Given the description of an element on the screen output the (x, y) to click on. 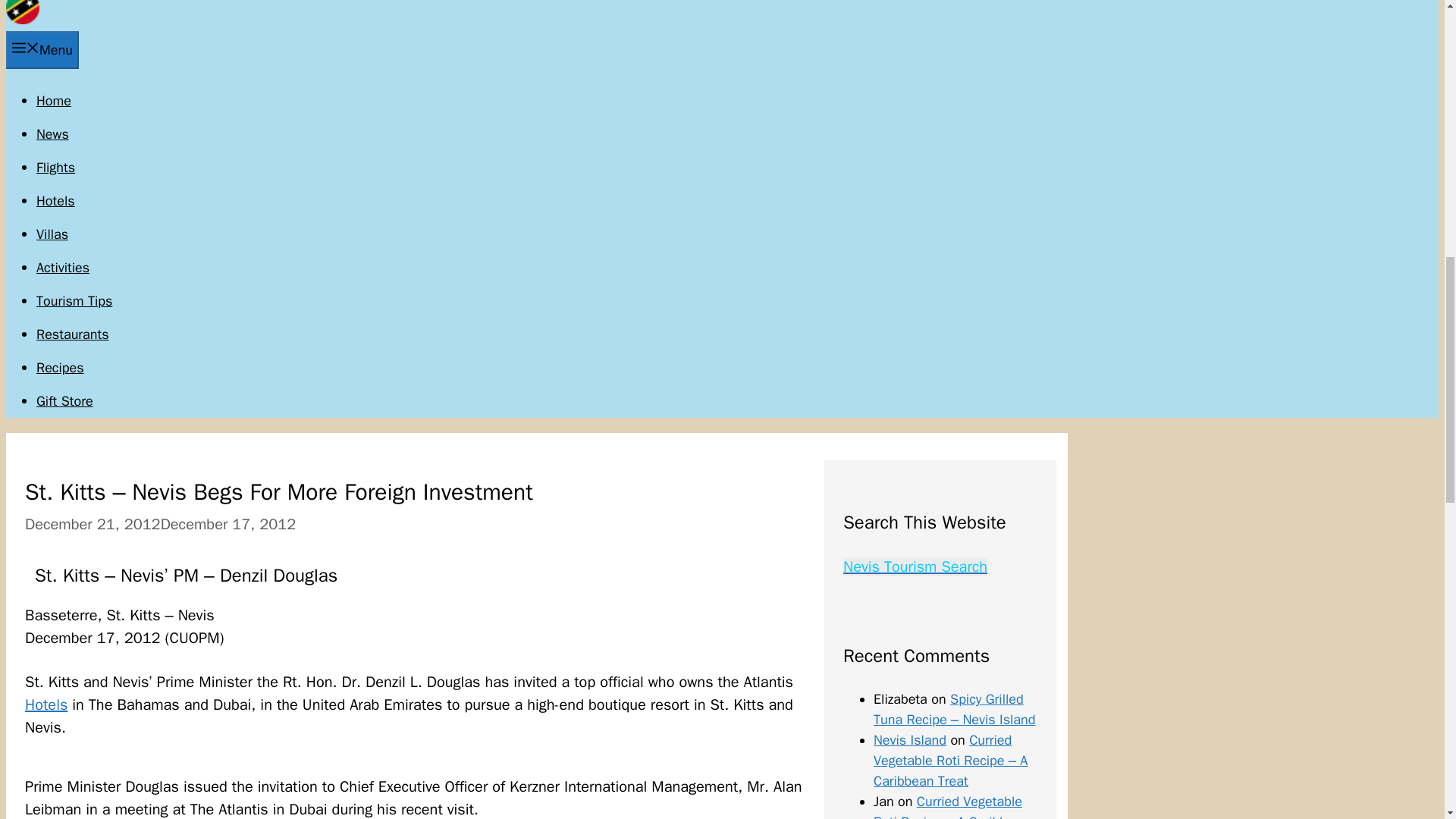
Home (53, 100)
News (52, 134)
Recipes (60, 367)
Villas (52, 234)
Hotels (45, 704)
Nevis News (52, 134)
Activities (62, 267)
Nevis Island News and Notes (22, 19)
Nevis Island (909, 740)
Restaurants (72, 334)
